Given the description of an element on the screen output the (x, y) to click on. 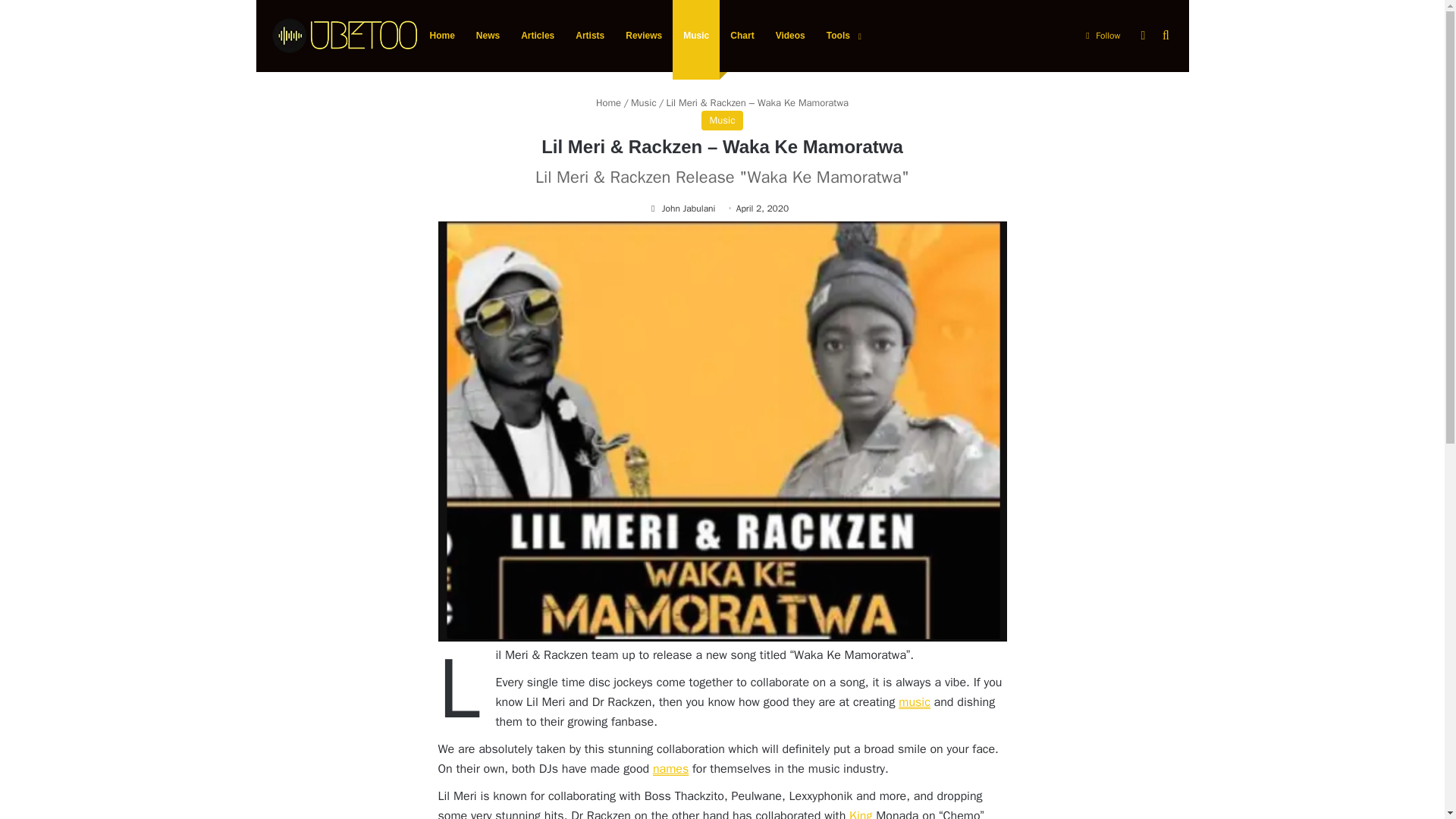
names (670, 768)
Music (643, 102)
music (914, 702)
Home (608, 102)
Ubetoo (342, 35)
King (860, 813)
Music (722, 120)
